Given the description of an element on the screen output the (x, y) to click on. 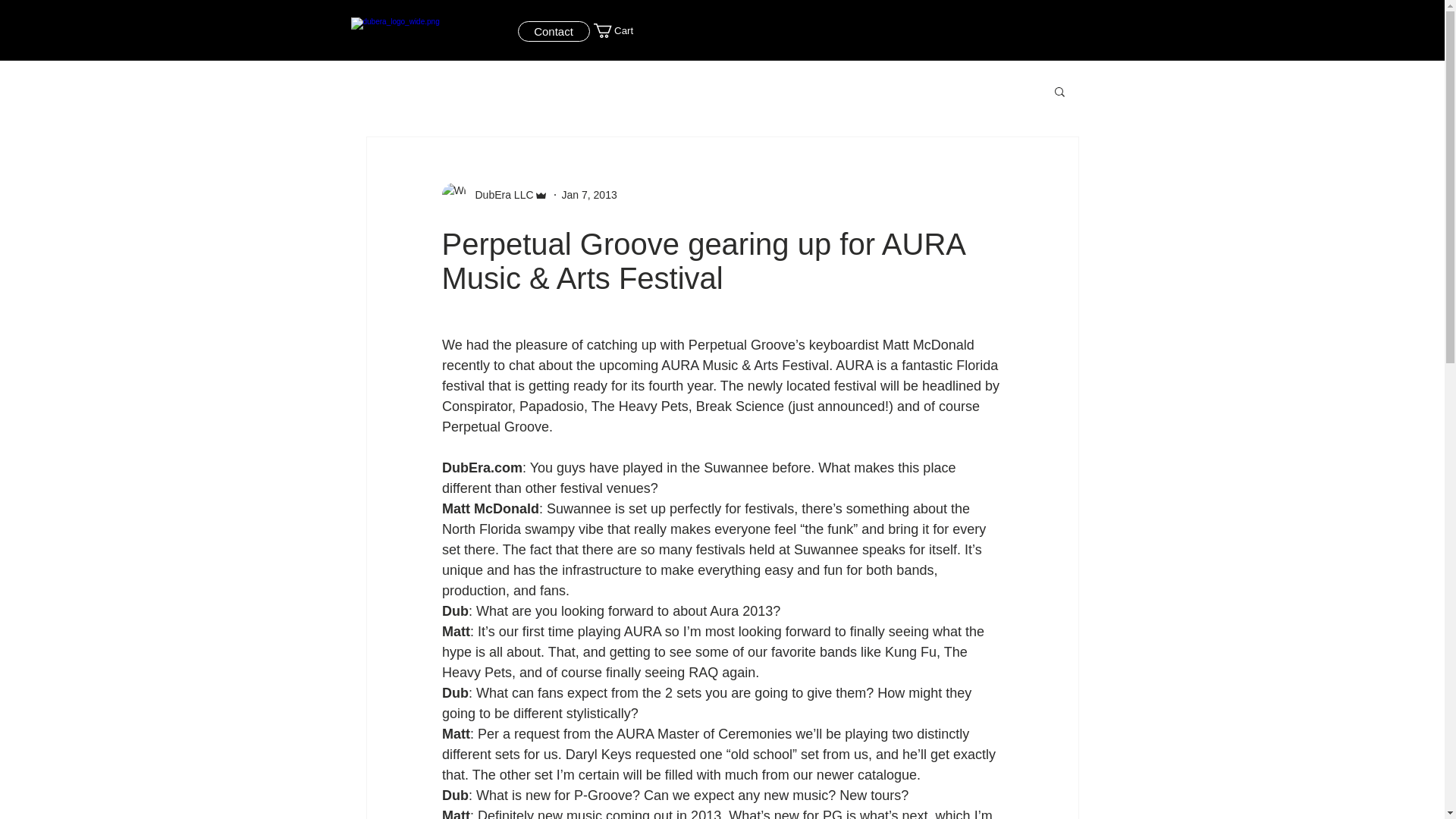
DubEra LLC (498, 194)
Jan 7, 2013 (589, 193)
Cart (620, 30)
Cart (620, 30)
DubEra LLC (494, 194)
Contact (552, 31)
